Given the description of an element on the screen output the (x, y) to click on. 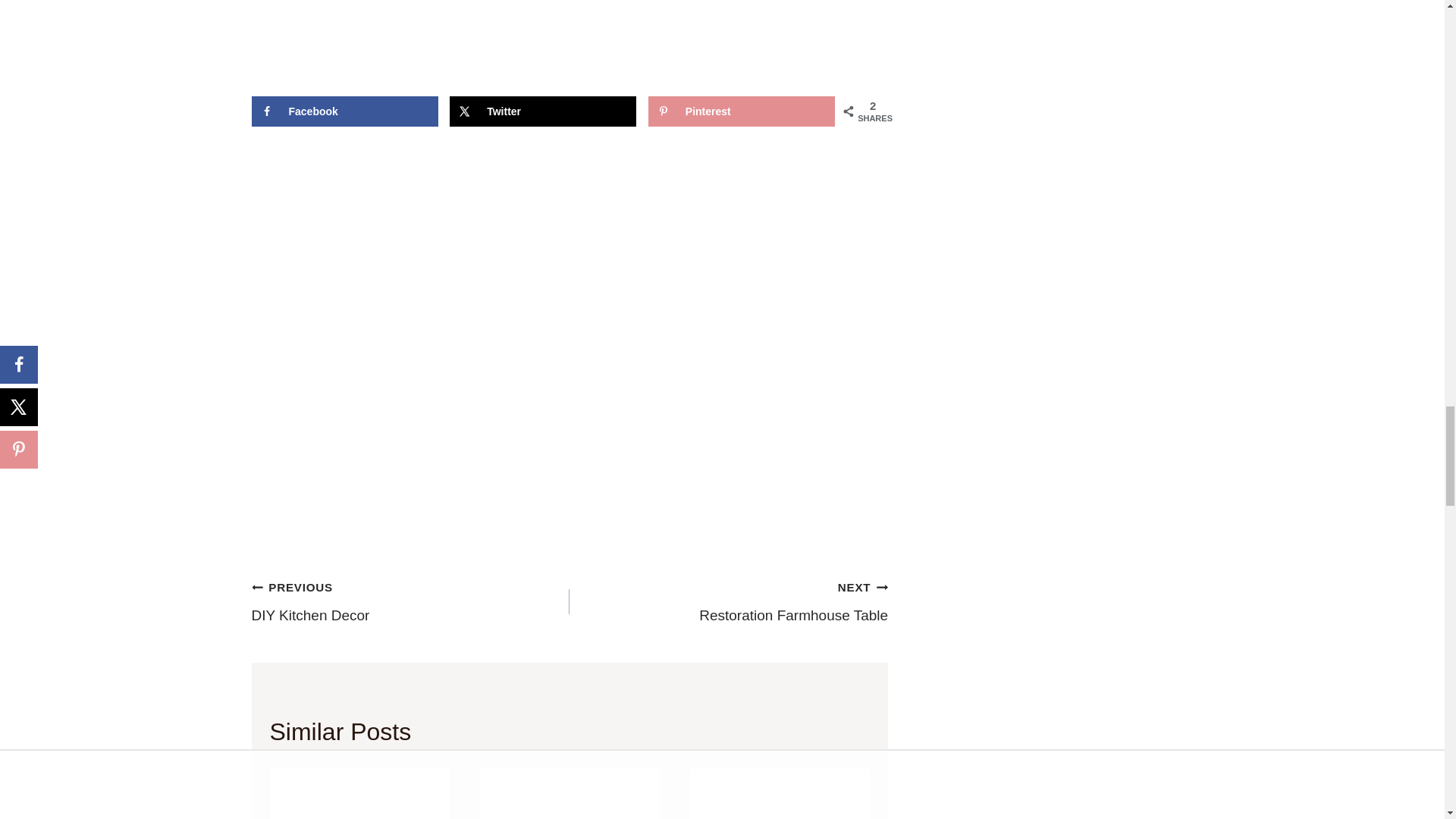
Share on X (542, 111)
Share on Facebook (344, 111)
Save to Pinterest (740, 111)
